Given the description of an element on the screen output the (x, y) to click on. 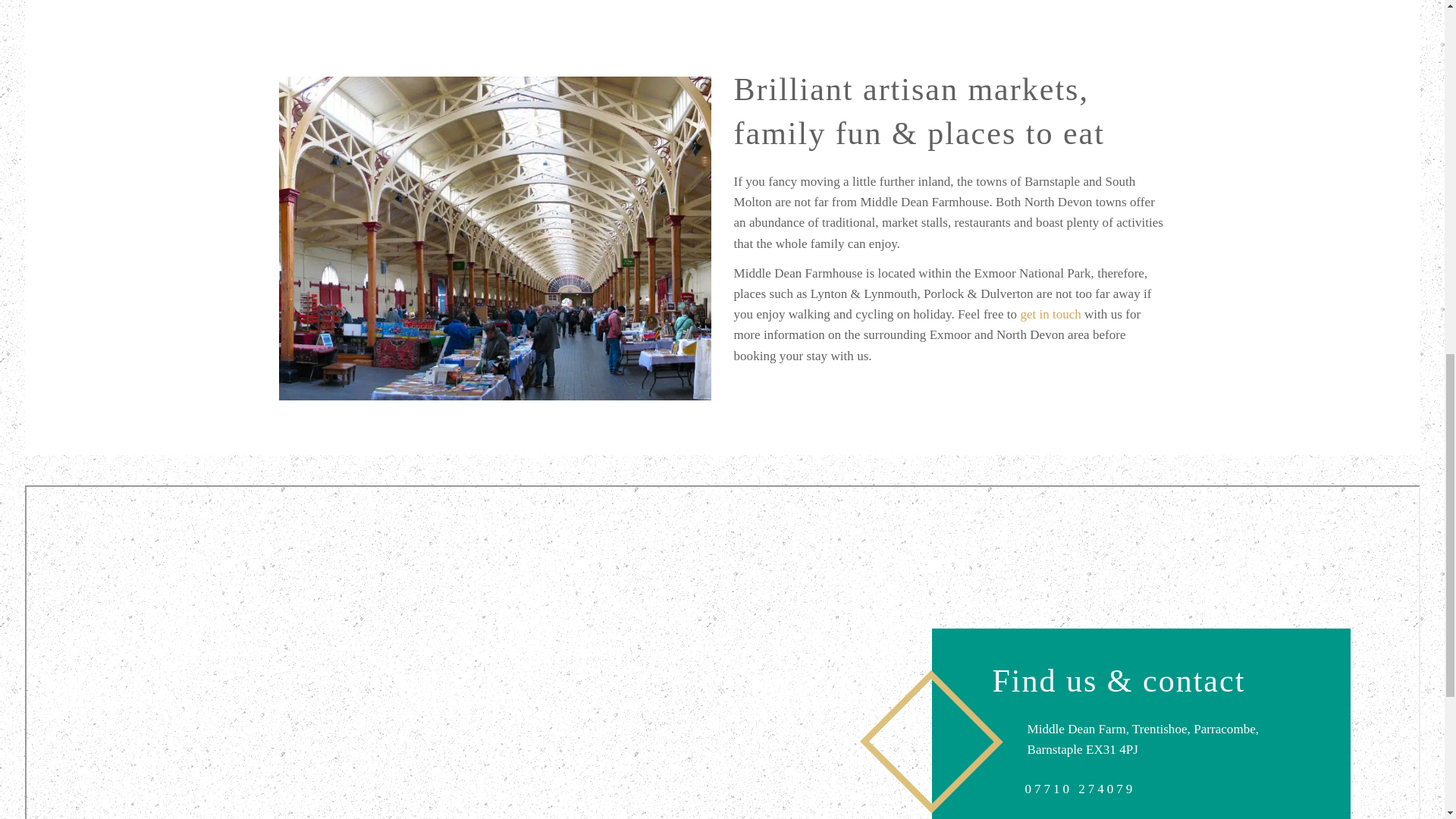
07710 274079 (1080, 788)
get in touch (1050, 314)
